Given the description of an element on the screen output the (x, y) to click on. 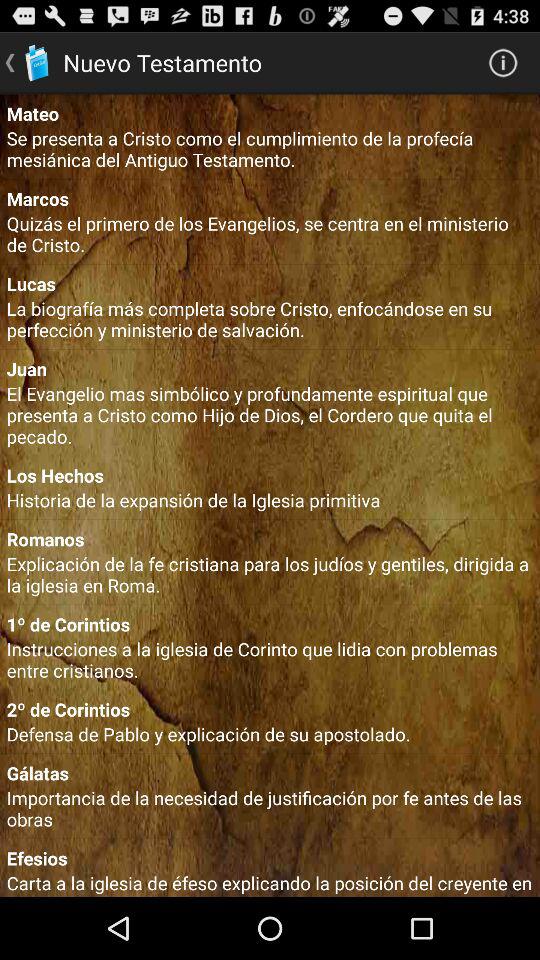
tap item above the se presenta a app (269, 113)
